Given the description of an element on the screen output the (x, y) to click on. 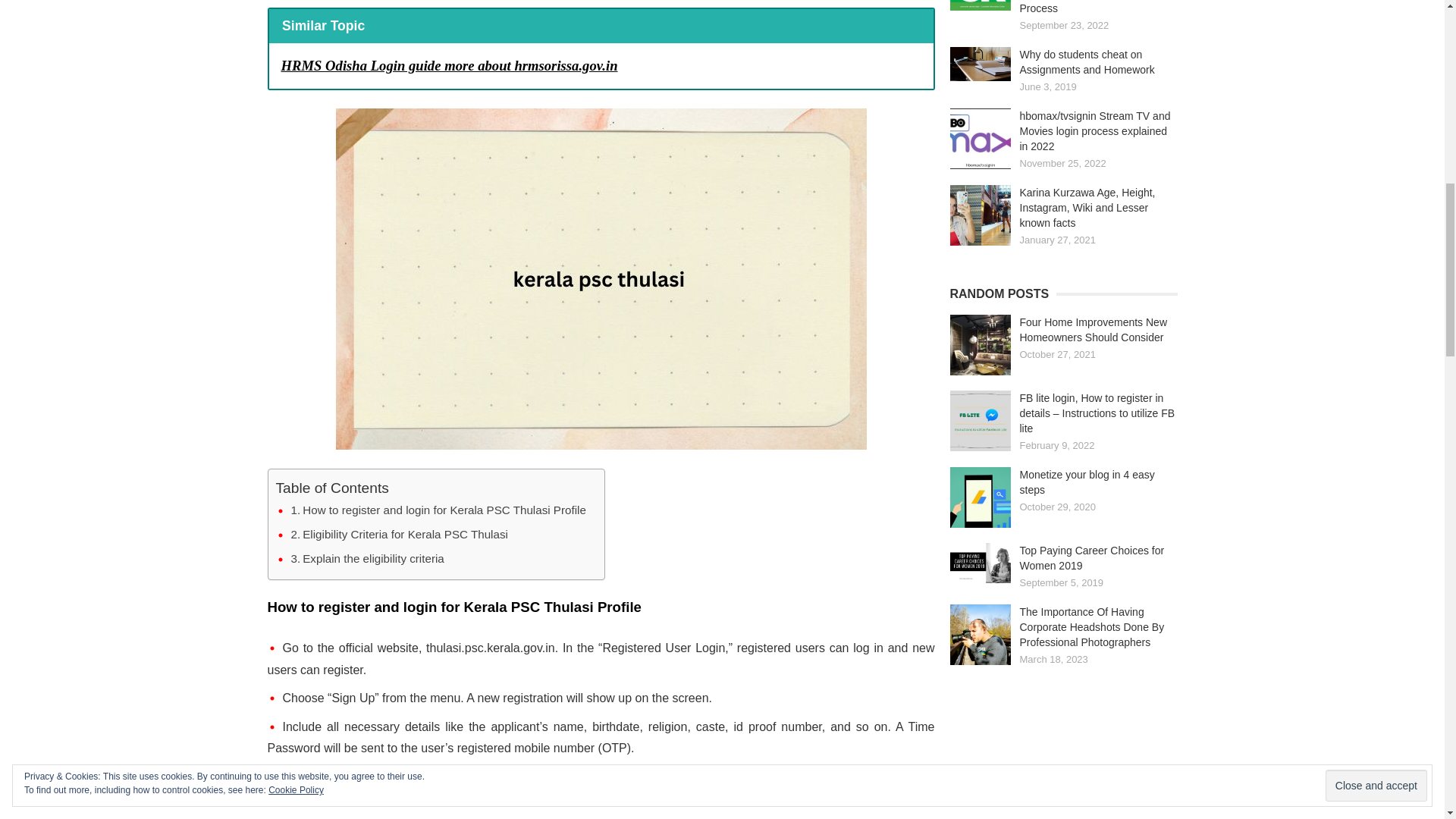
Explain the eligibility criteria (367, 558)
